Given the description of an element on the screen output the (x, y) to click on. 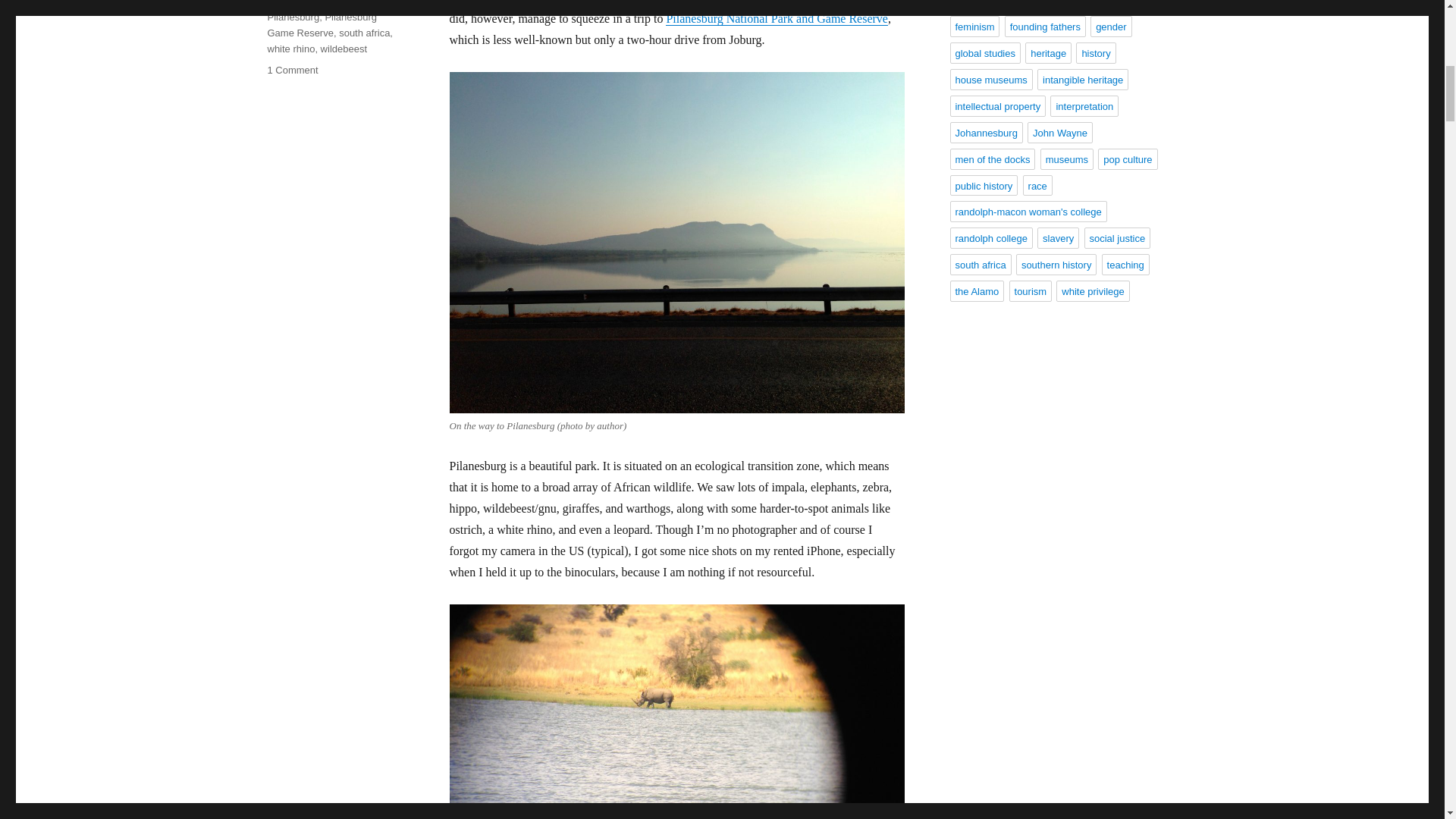
Pilanesburg National Park and Game Reserve (776, 18)
